Given the description of an element on the screen output the (x, y) to click on. 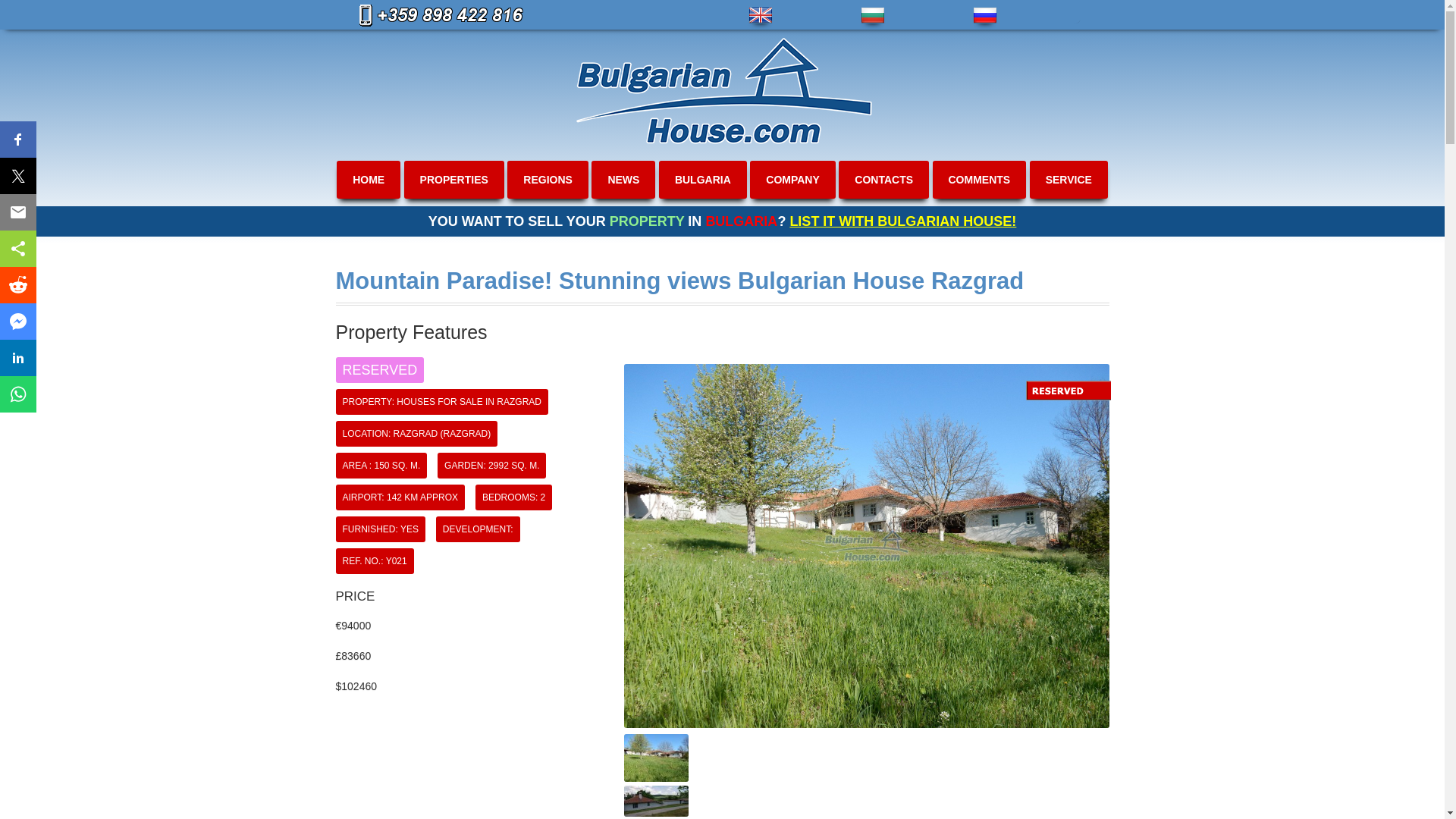
ru (984, 15)
HOME (368, 179)
REGIONS (547, 179)
en (760, 15)
CONTACTS (883, 179)
NEWS (623, 179)
PROPERTIES (453, 179)
SERVICE (1068, 179)
COMMENTS (978, 179)
BULGARIA (702, 179)
bg (872, 15)
COMPANY (792, 179)
